Given the description of an element on the screen output the (x, y) to click on. 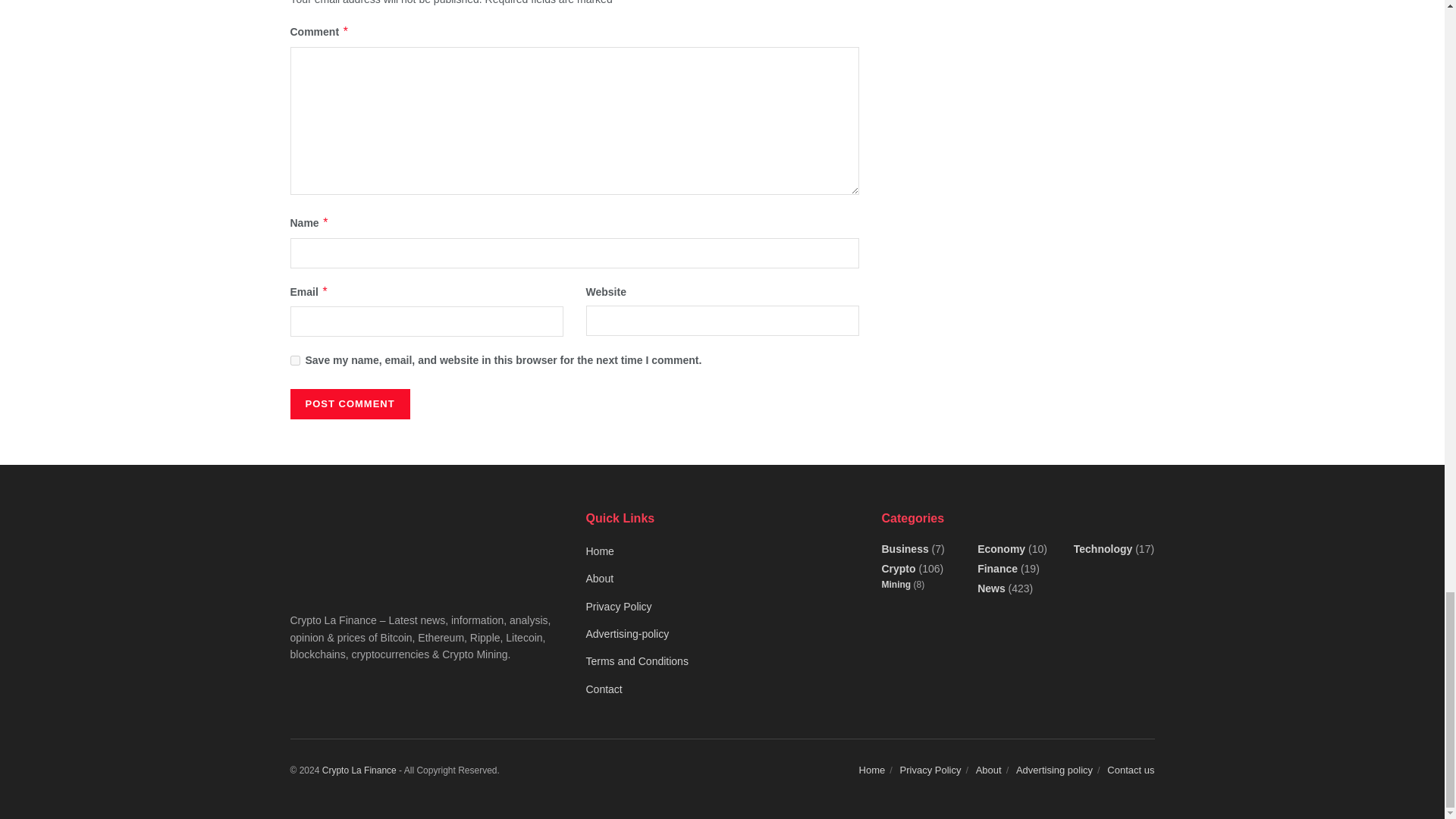
Post Comment (349, 404)
Crypto La Finance (358, 769)
yes (294, 360)
